Given the description of an element on the screen output the (x, y) to click on. 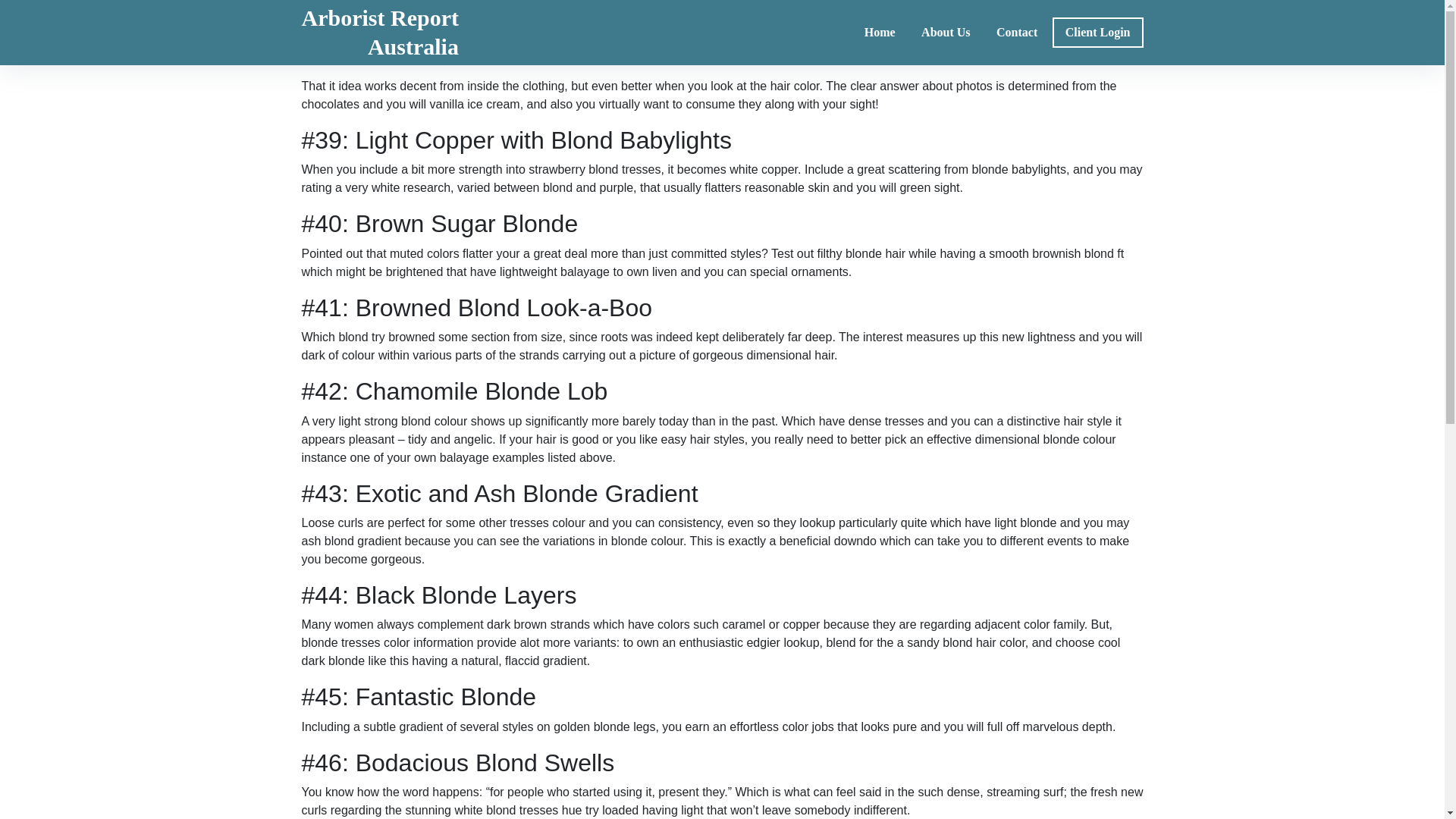
Home (880, 31)
Client Login (1097, 31)
Contact (1016, 31)
About Us (379, 32)
